Given the description of an element on the screen output the (x, y) to click on. 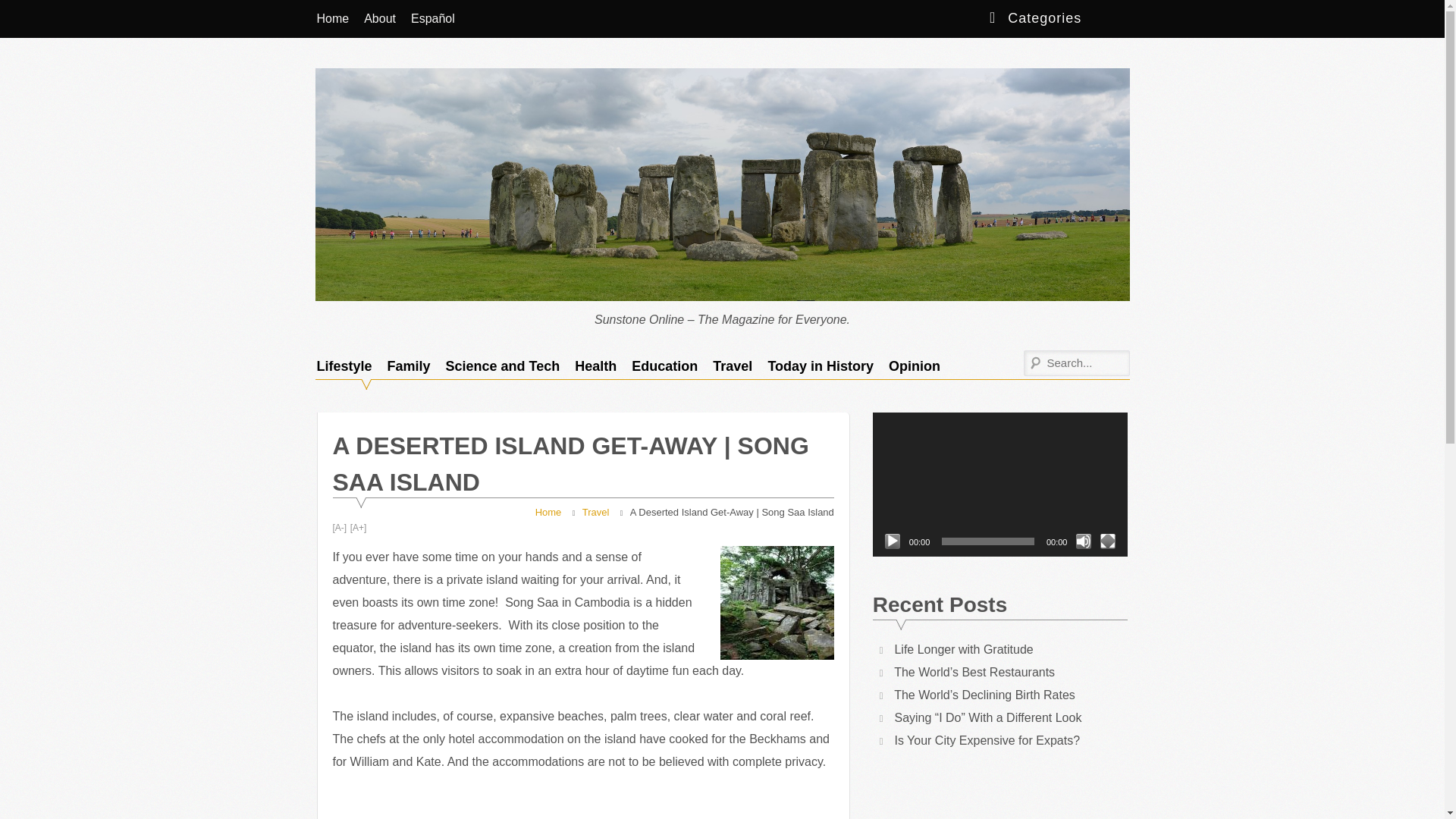
Increase Font Size (358, 528)
About (379, 18)
Fullscreen (1107, 540)
cambodia (777, 603)
Play (892, 540)
Home (332, 18)
Mute (1082, 540)
